Given the description of an element on the screen output the (x, y) to click on. 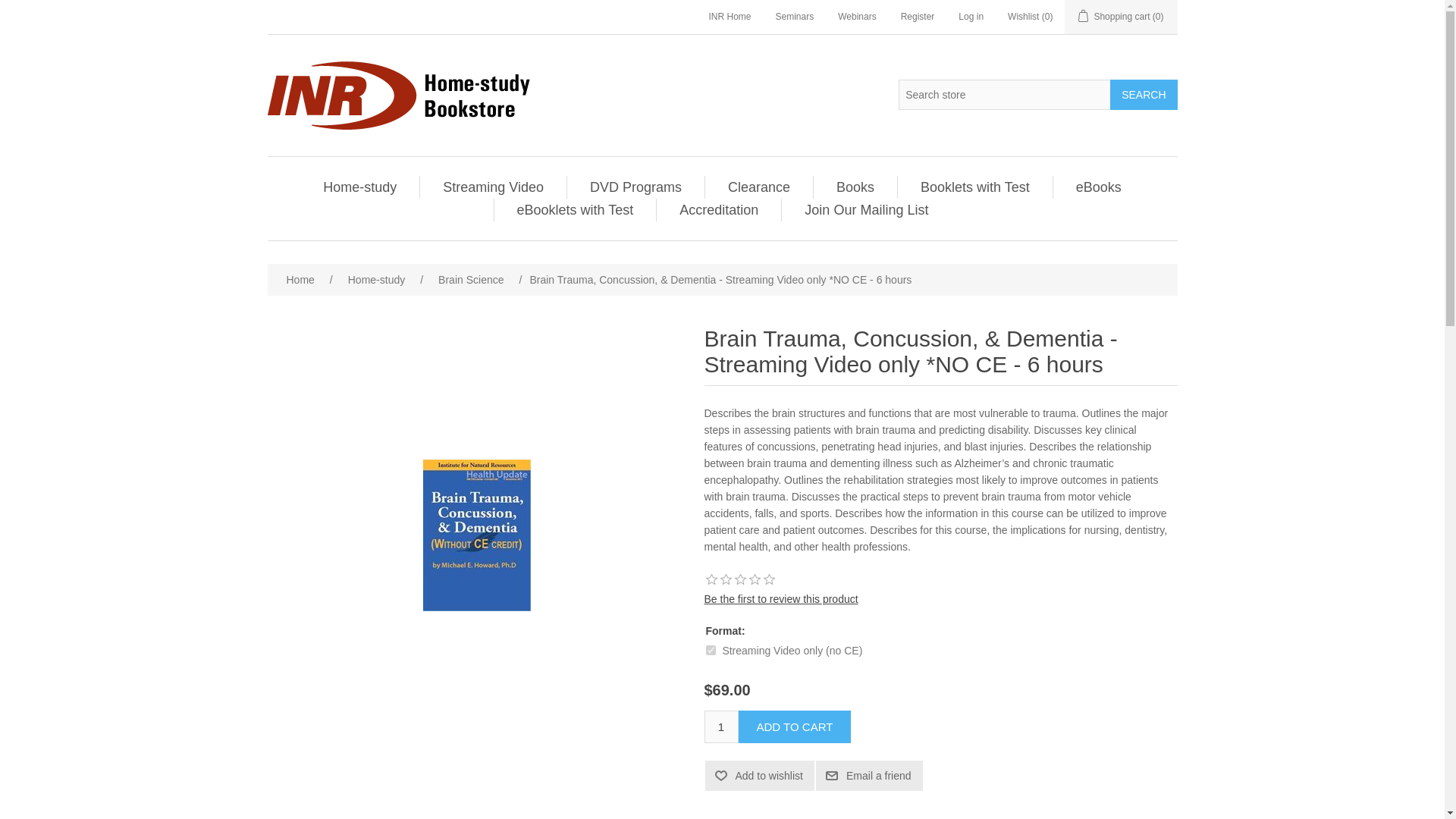
Search (1142, 93)
Booklets with Test (974, 187)
Home-study (359, 187)
Seminars (794, 17)
245 (709, 650)
eBooks (1098, 187)
Books (855, 187)
Add to wishlist (758, 775)
Add to cart (794, 726)
Search (1142, 93)
